Given the description of an element on the screen output the (x, y) to click on. 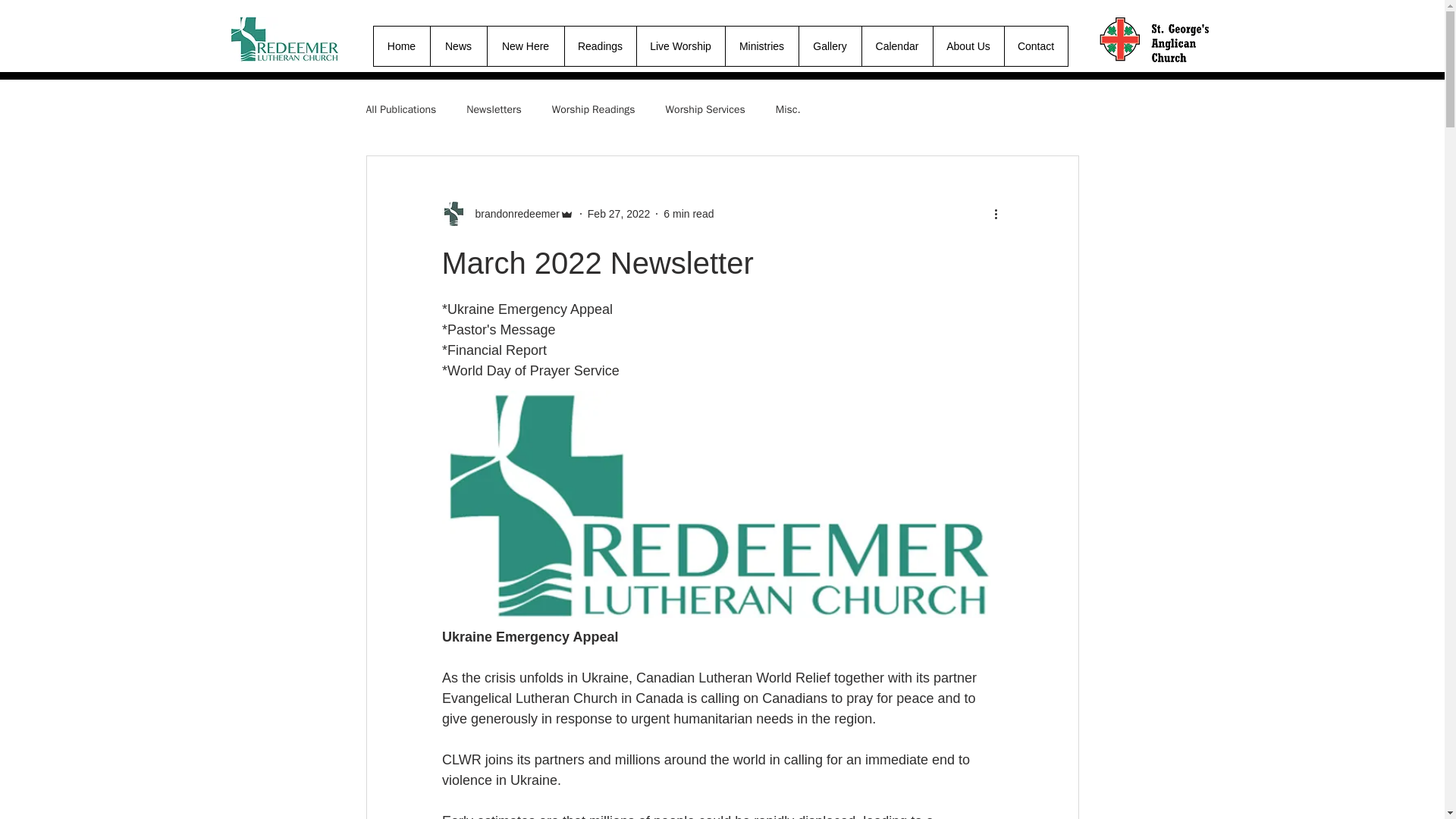
Feb 27, 2022 (619, 214)
New Here (525, 46)
Gallery (828, 46)
Newsletters (493, 110)
Readings (600, 46)
Calendar (897, 46)
All Publications (400, 110)
brandonredeemer (512, 213)
6 min read (688, 214)
News (457, 46)
